Given the description of an element on the screen output the (x, y) to click on. 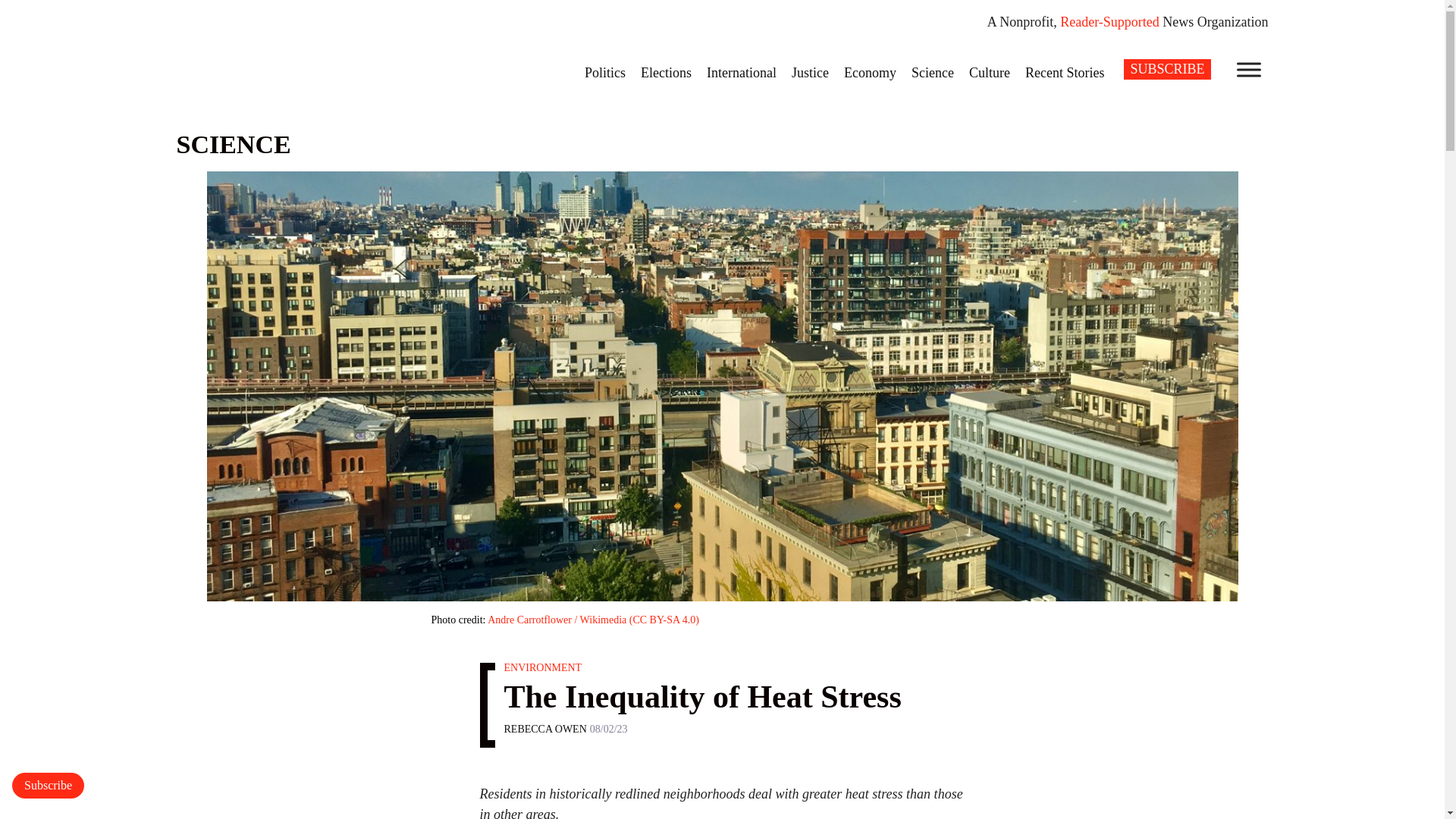
Recent Stories (1064, 72)
Science (932, 72)
Elections (665, 72)
International (741, 72)
Culture (988, 72)
Donate (47, 785)
Justice (809, 72)
Economy (869, 72)
SUBSCRIBE (1166, 68)
Posts by Rebecca Owen (544, 728)
